Given the description of an element on the screen output the (x, y) to click on. 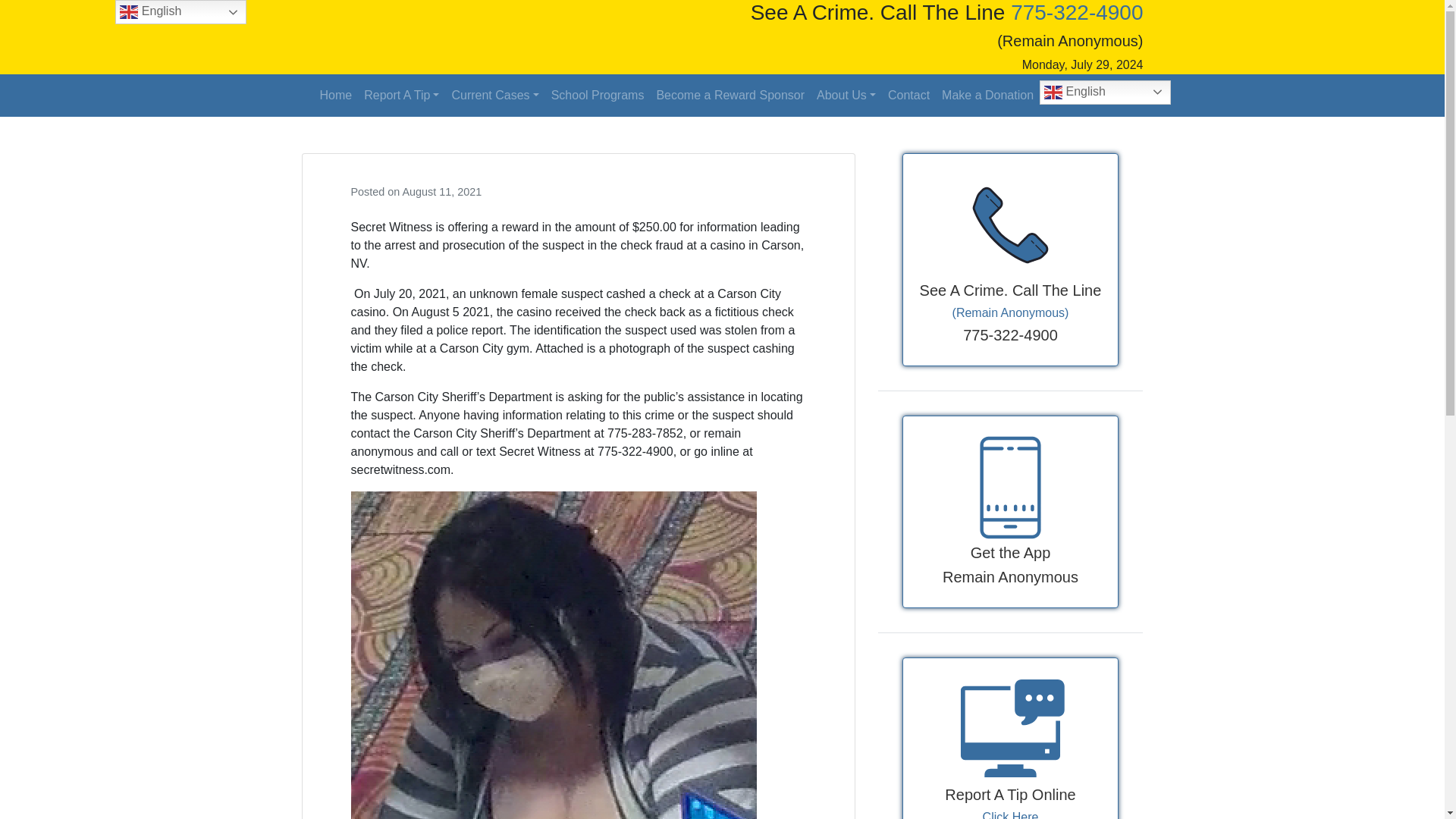
Report A Tip (401, 95)
Contact (909, 95)
Current Cases (494, 95)
School Programs (597, 95)
775-322-4900 (1076, 12)
Home (336, 95)
Make a Donation (987, 95)
About Us (846, 95)
Become a Reward Sponsor (729, 95)
775-322-4900 (1076, 12)
